Given the description of an element on the screen output the (x, y) to click on. 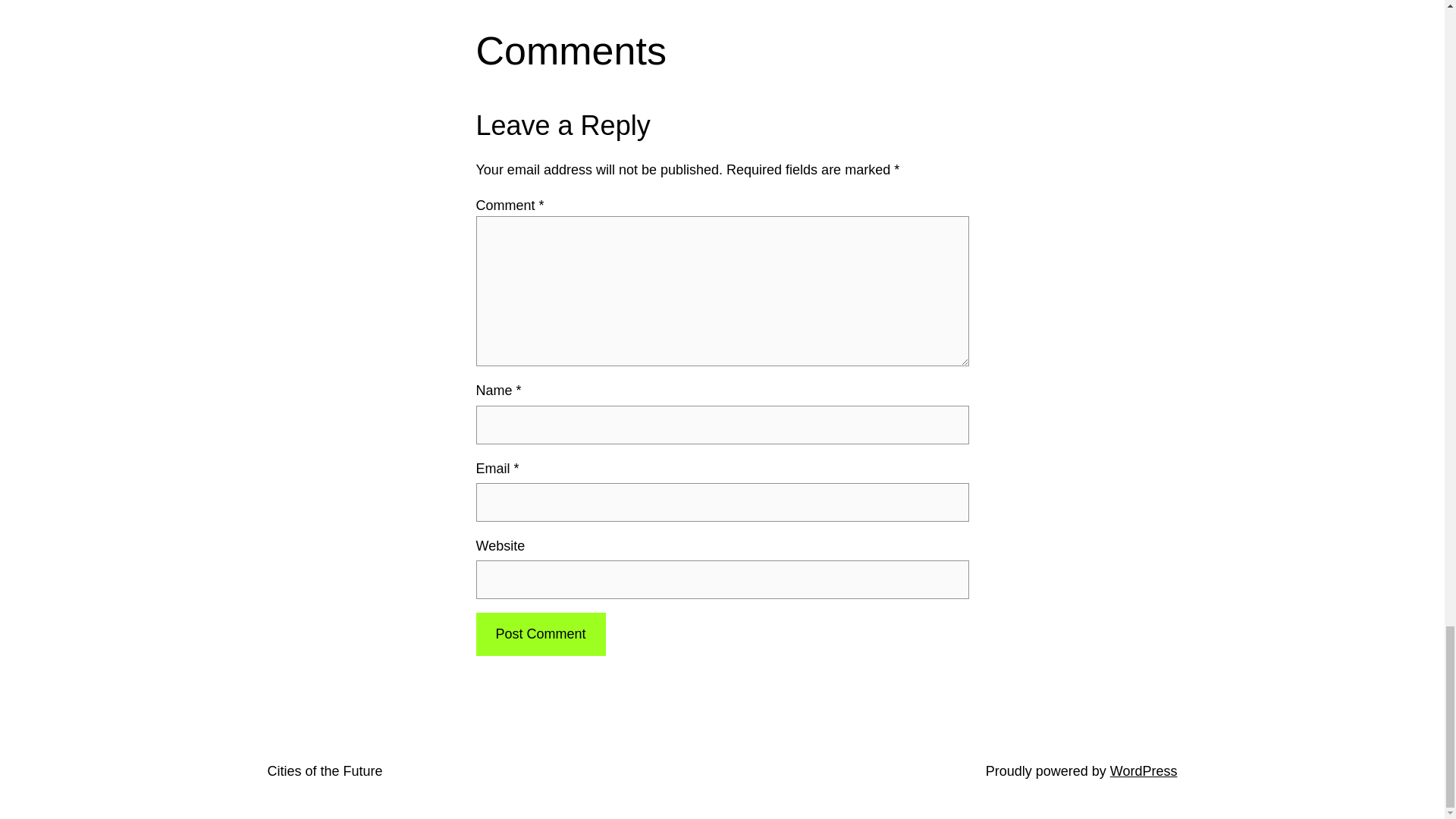
Post Comment (540, 634)
Post Comment (540, 634)
WordPress (1143, 770)
Cities of the Future (323, 770)
